Given the description of an element on the screen output the (x, y) to click on. 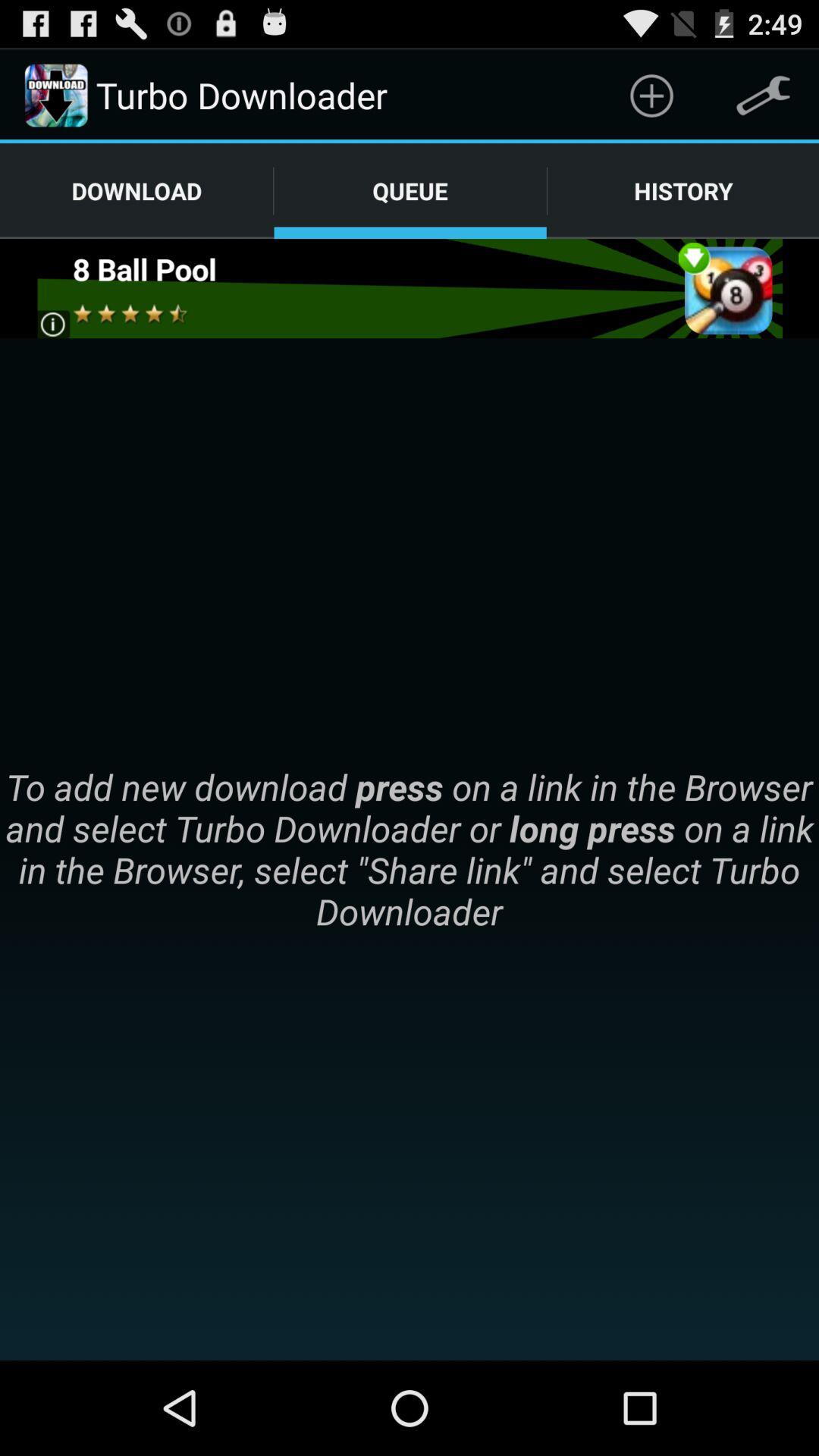
an advertisement of a mobile game (408, 288)
